Given the description of an element on the screen output the (x, y) to click on. 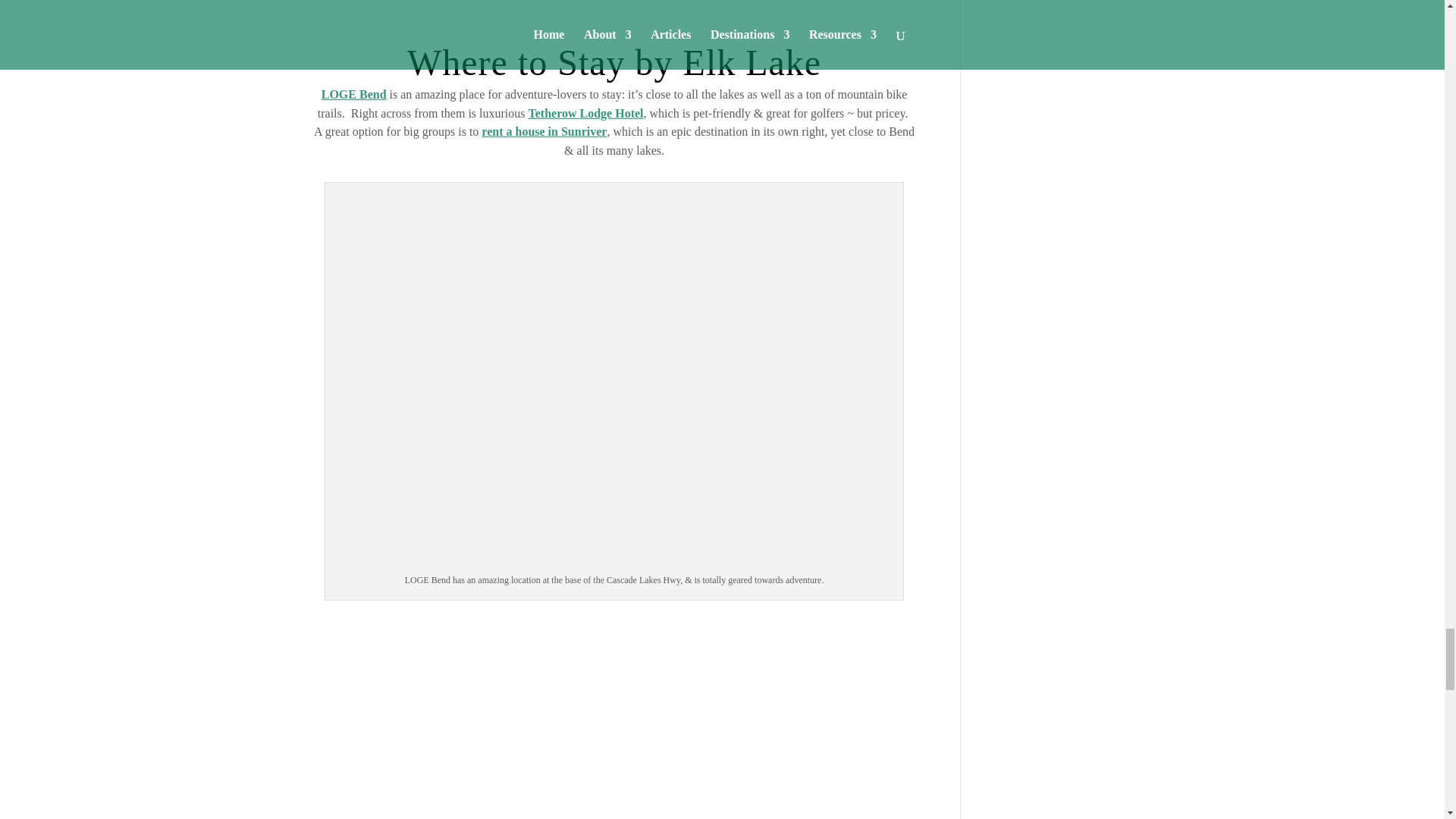
rent a house in Sunriver (544, 131)
LOGE Bend (354, 93)
Tetherow Lodge Hotel (585, 113)
